Given the description of an element on the screen output the (x, y) to click on. 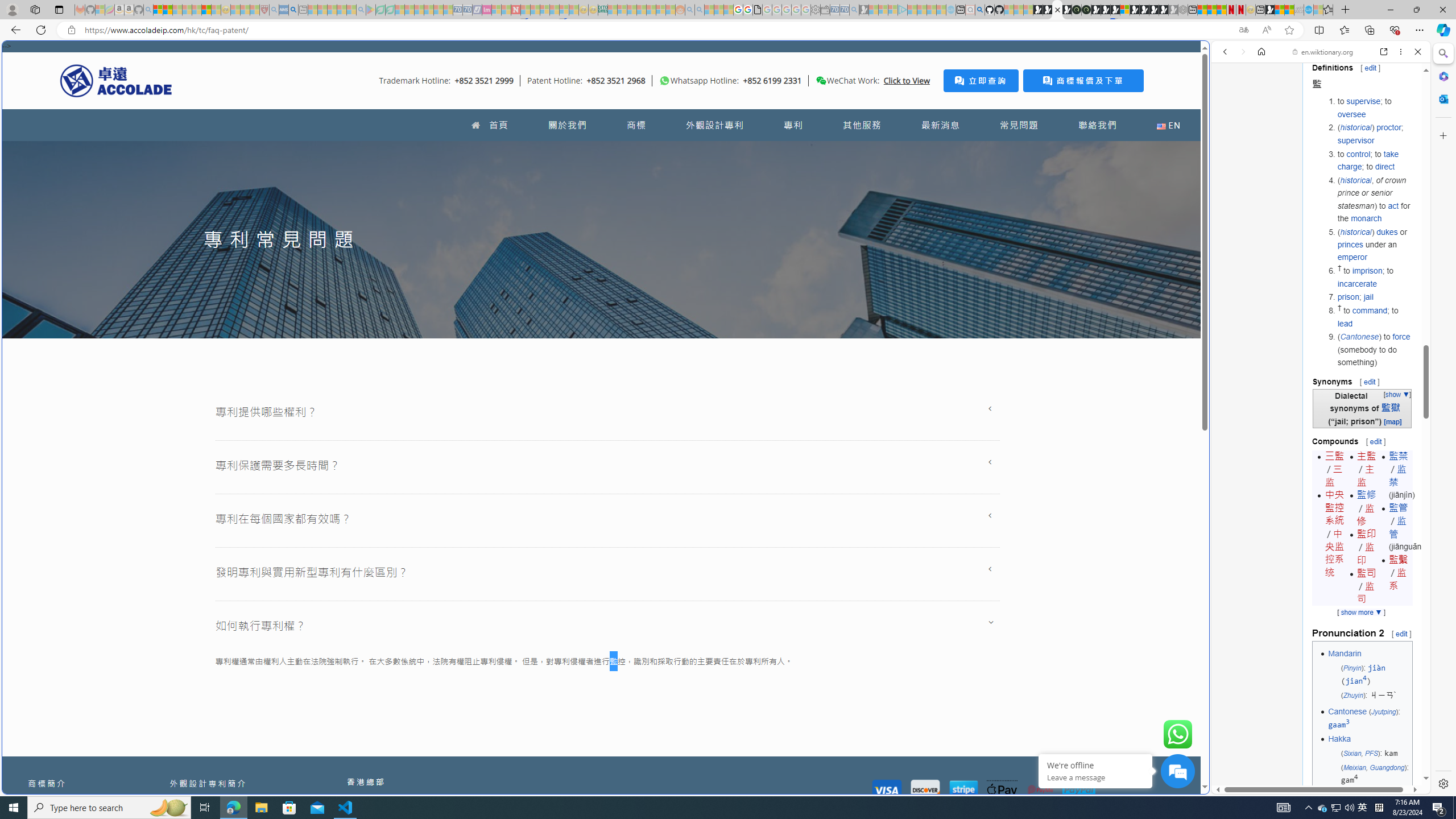
command (1369, 310)
jian4 (1356, 681)
